Given the description of an element on the screen output the (x, y) to click on. 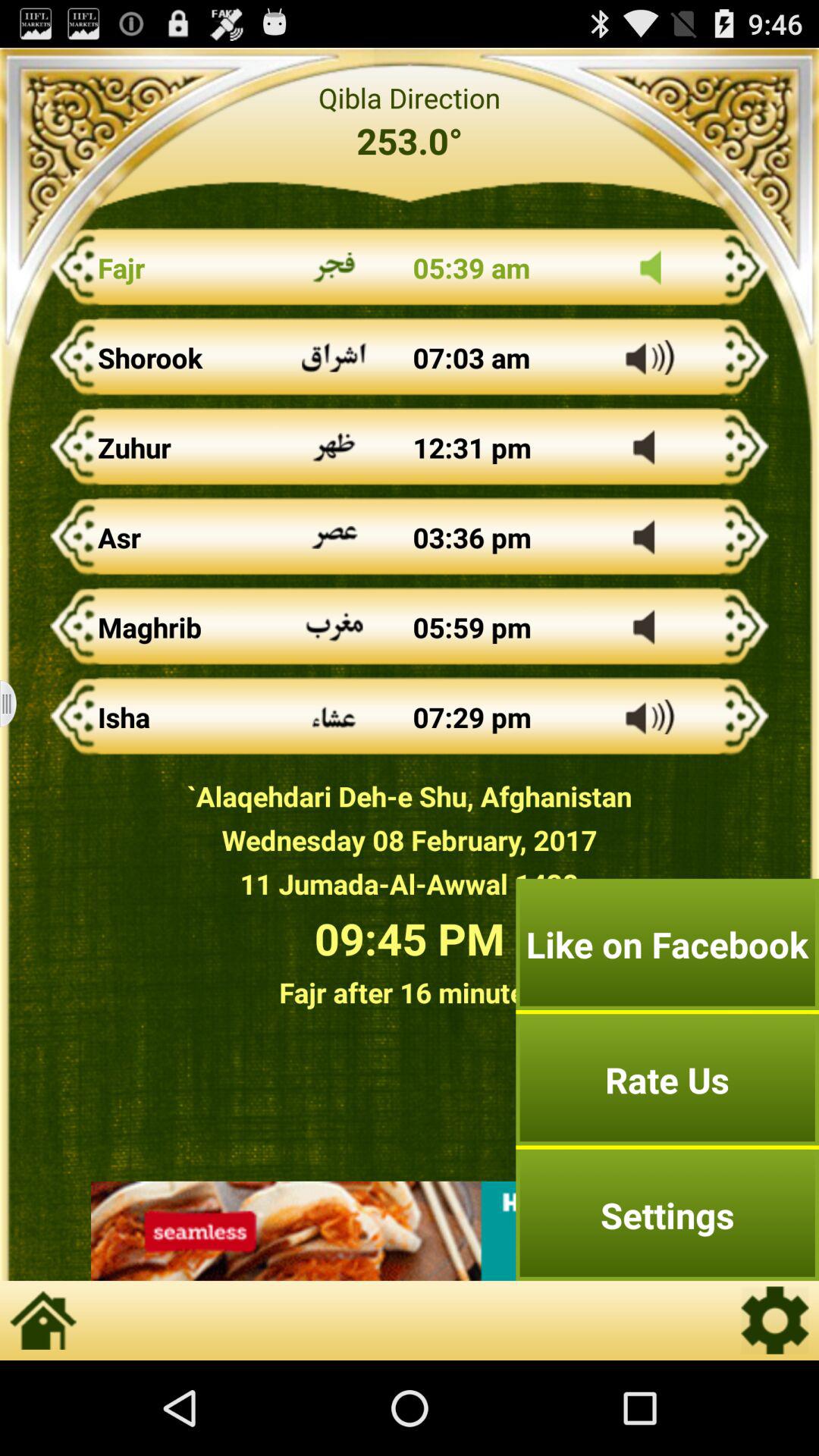
view advertisement (409, 1230)
